Given the description of an element on the screen output the (x, y) to click on. 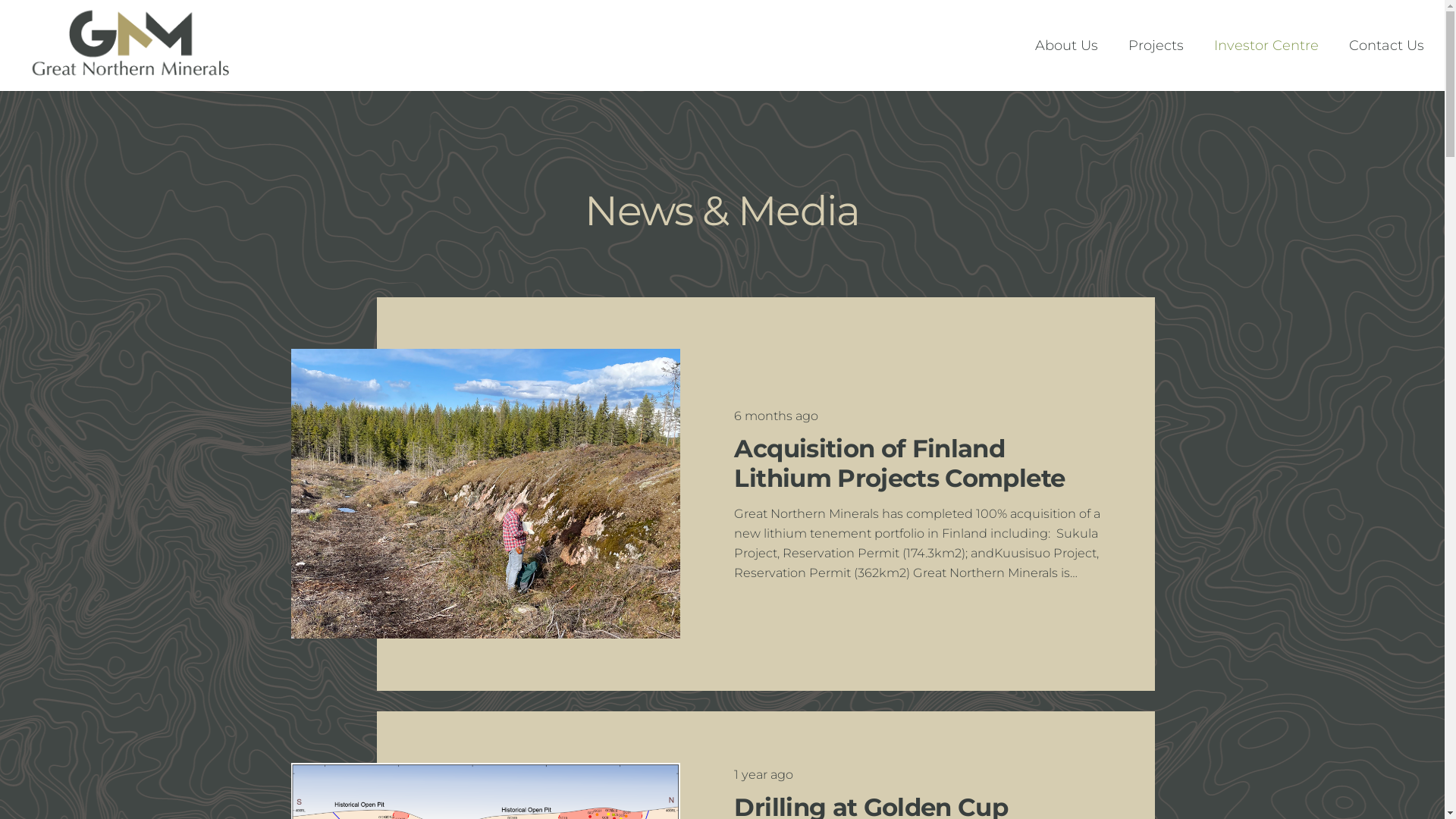
Contact Us Element type: text (1386, 45)
Investor Centre Element type: text (1265, 45)
About Us Element type: text (1066, 45)
Projects Element type: text (1155, 45)
Acquisition of Finland Lithium Projects Complete Element type: text (899, 462)
